Given the description of an element on the screen output the (x, y) to click on. 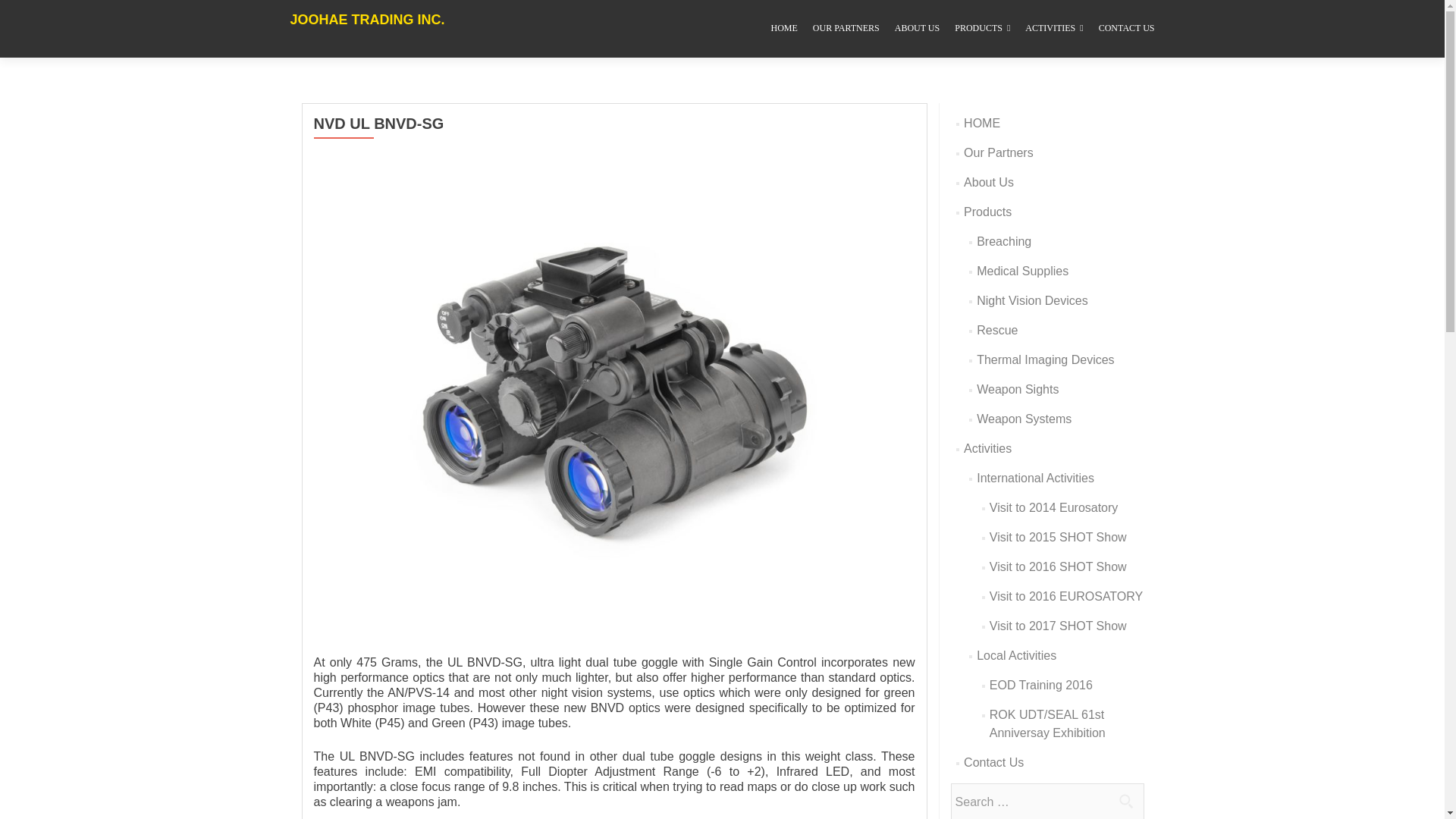
About Us (988, 182)
Night Vision Devices (1031, 300)
Medical Supplies (1022, 270)
ABOUT US (917, 28)
Our Partners (998, 152)
OUR PARTNERS (845, 28)
Products (987, 211)
CONTACT US (1126, 28)
JOOHAE TRADING INC. (368, 28)
PRODUCTS (982, 28)
HOME (784, 28)
Breaching (1003, 241)
Search (1125, 800)
HOME (981, 123)
ACTIVITIES (1054, 28)
